Given the description of an element on the screen output the (x, y) to click on. 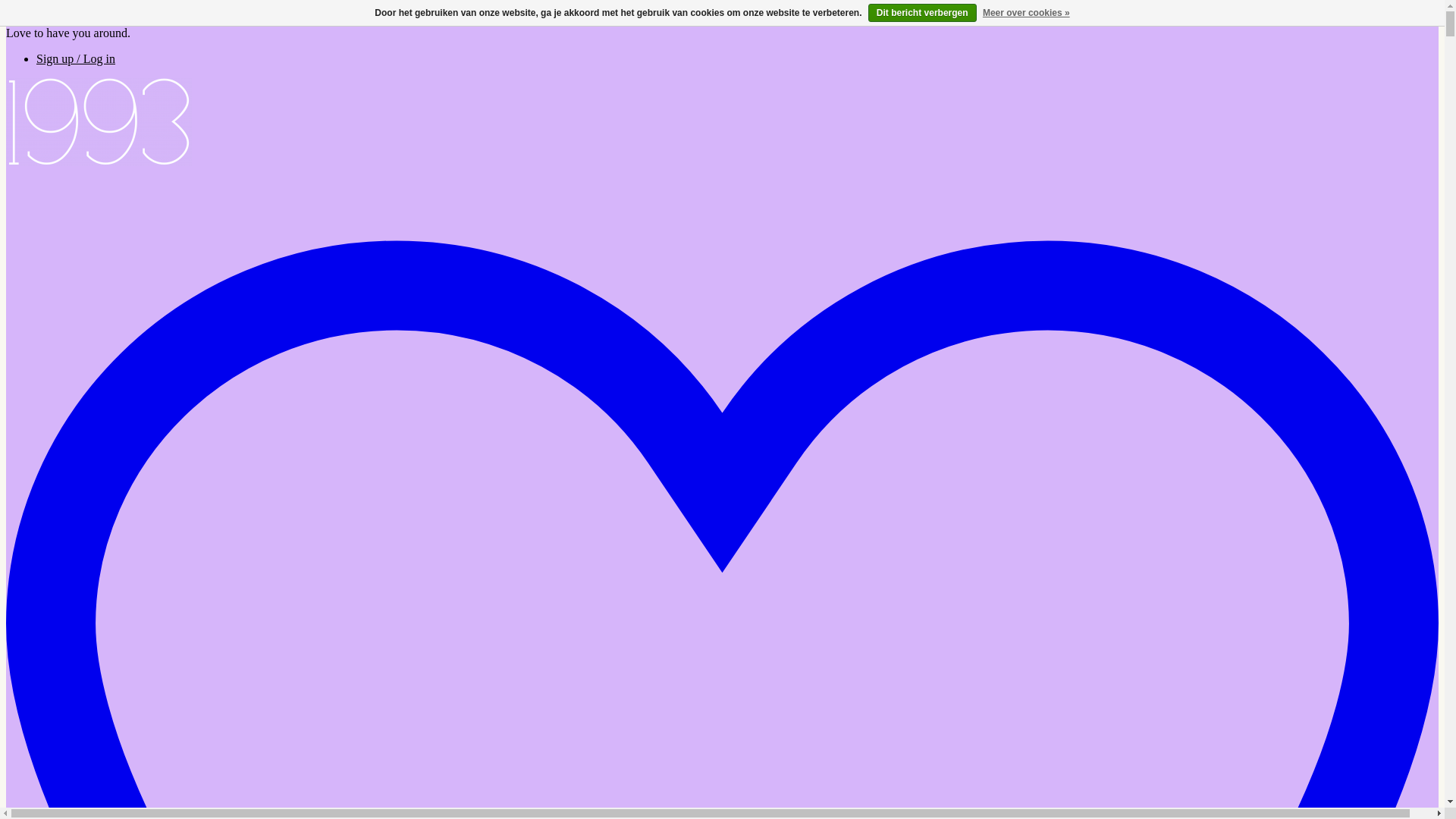
Sign up / Log in Element type: text (75, 58)
1993 Store Element type: hover (98, 161)
Dit bericht verbergen Element type: text (922, 12)
